Given the description of an element on the screen output the (x, y) to click on. 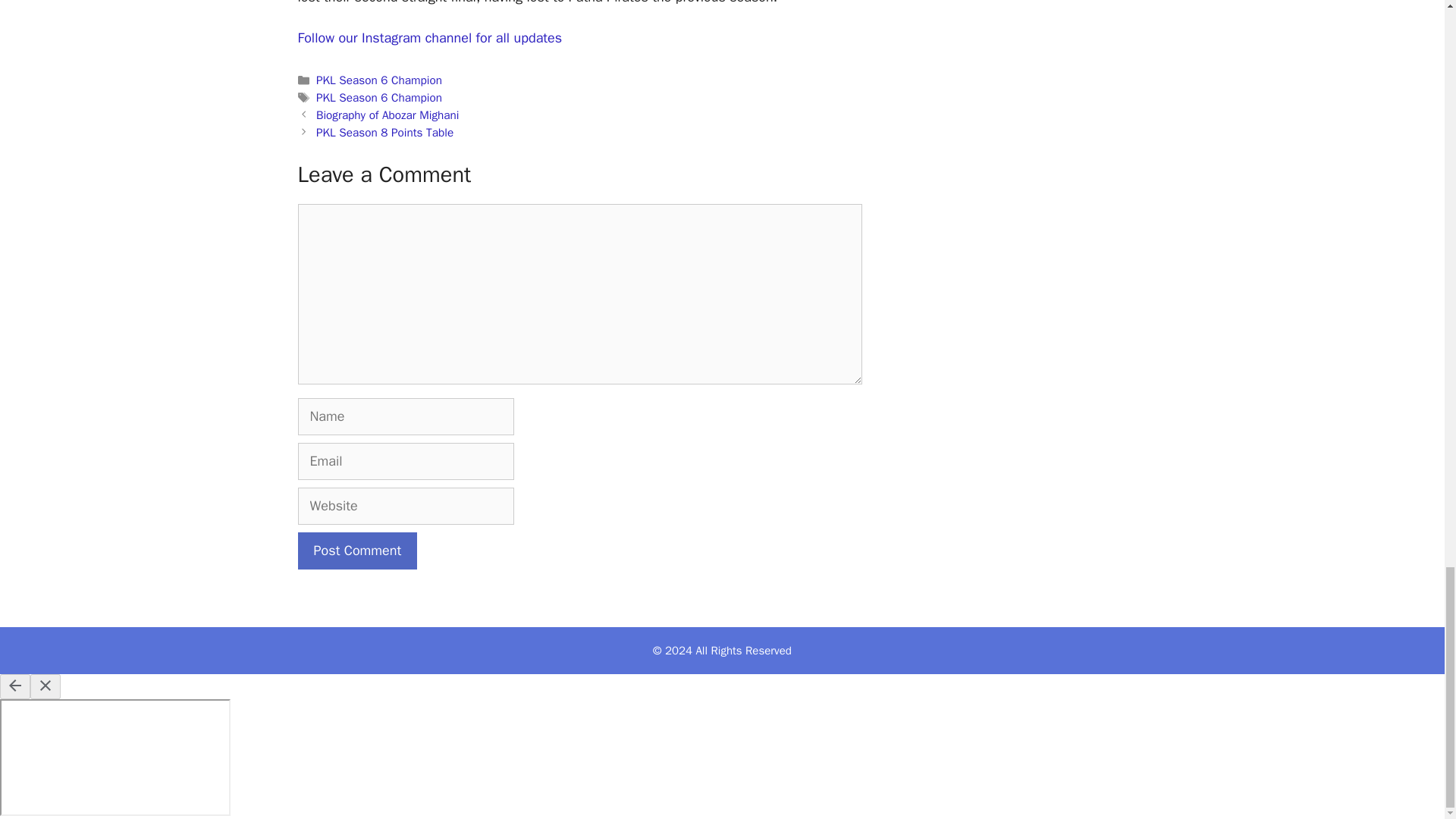
PKL Season 6 Champion (378, 97)
Follow our Instagram channel for all updates (429, 37)
PKL Season 6 Champion (378, 79)
Post Comment (356, 550)
PKL Season 8 Points Table (383, 132)
Biography of Abozar Mighani (387, 114)
Post Comment (356, 550)
